Given the description of an element on the screen output the (x, y) to click on. 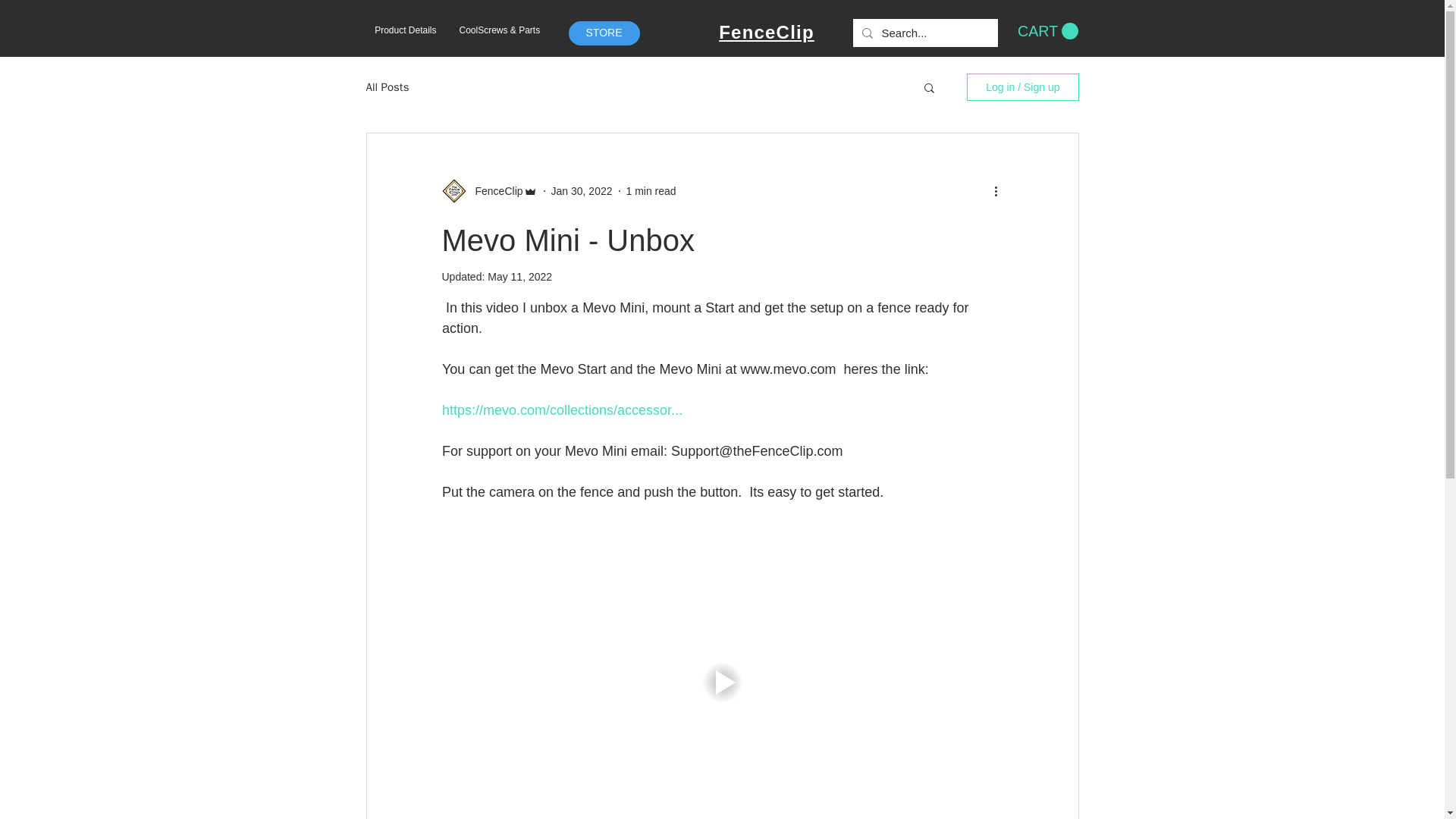
Product Details (404, 30)
Jan 30, 2022 (581, 191)
STORE (604, 33)
FenceClip (493, 191)
CART (1047, 31)
FenceClip (766, 32)
All Posts (387, 87)
CART (1047, 31)
1 min read (651, 191)
May 11, 2022 (519, 276)
